Given the description of an element on the screen output the (x, y) to click on. 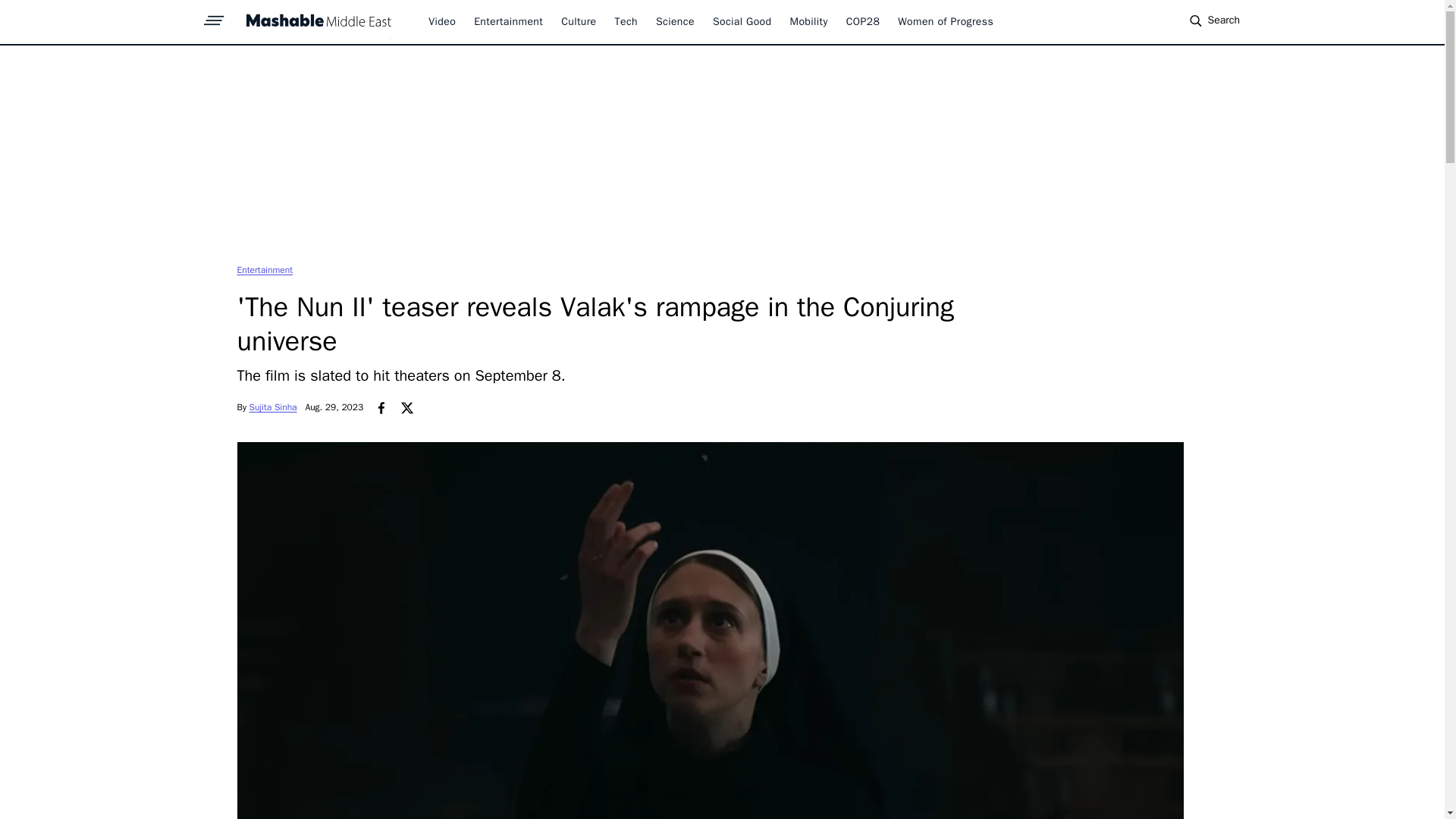
Entertainment (263, 269)
sprite-hamburger (213, 16)
Science (675, 21)
Women of Progress (945, 21)
COP28 (862, 21)
Video (441, 21)
Entertainment (508, 21)
Social Good (742, 21)
Tech (625, 21)
Culture (577, 21)
Entertainment (263, 269)
Mobility (809, 21)
Sujita Sinha (272, 407)
